Given the description of an element on the screen output the (x, y) to click on. 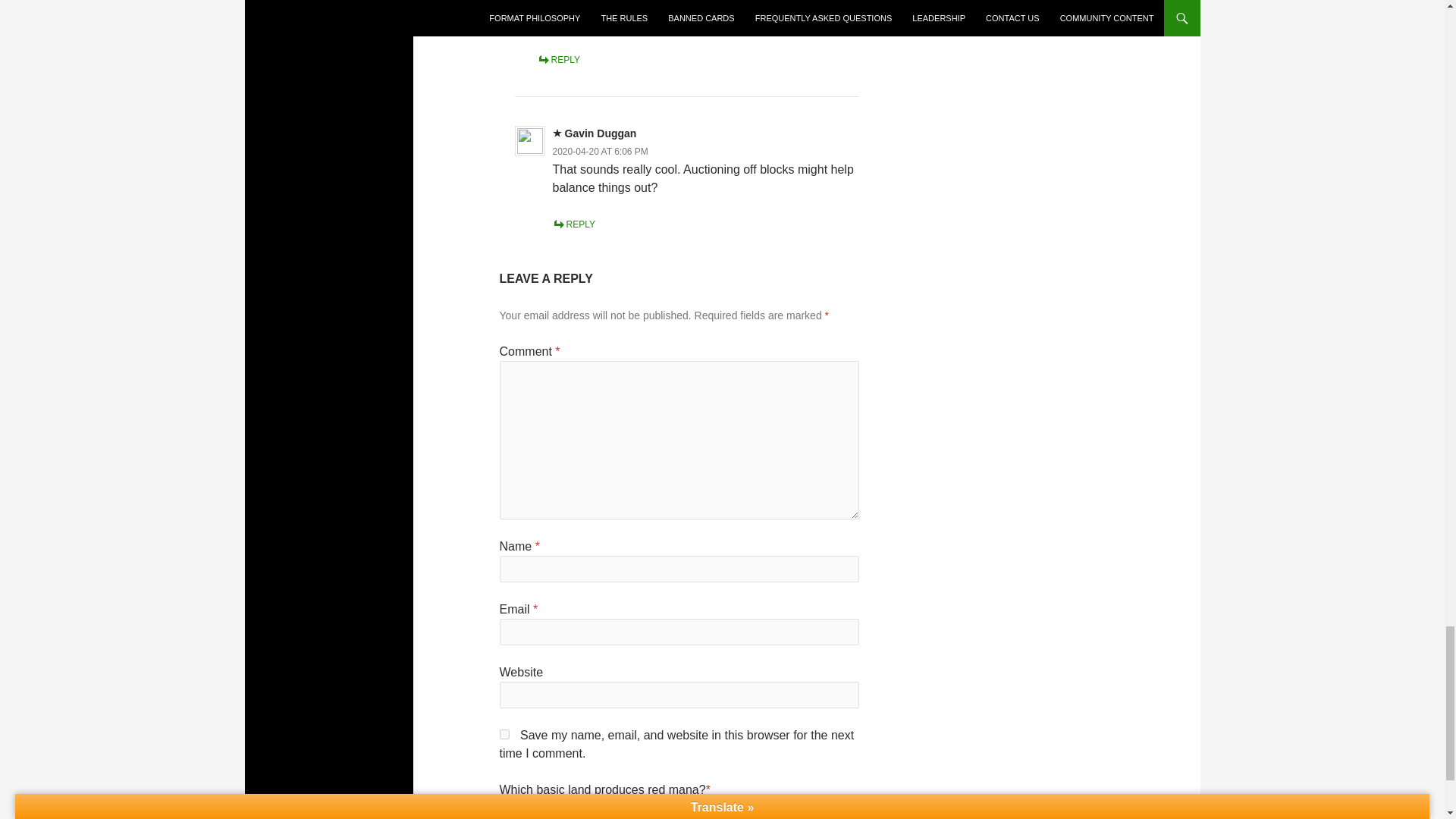
REPLY (574, 224)
2020-04-20 AT 6:06 PM (600, 151)
yes (504, 734)
REPLY (558, 59)
